Given the description of an element on the screen output the (x, y) to click on. 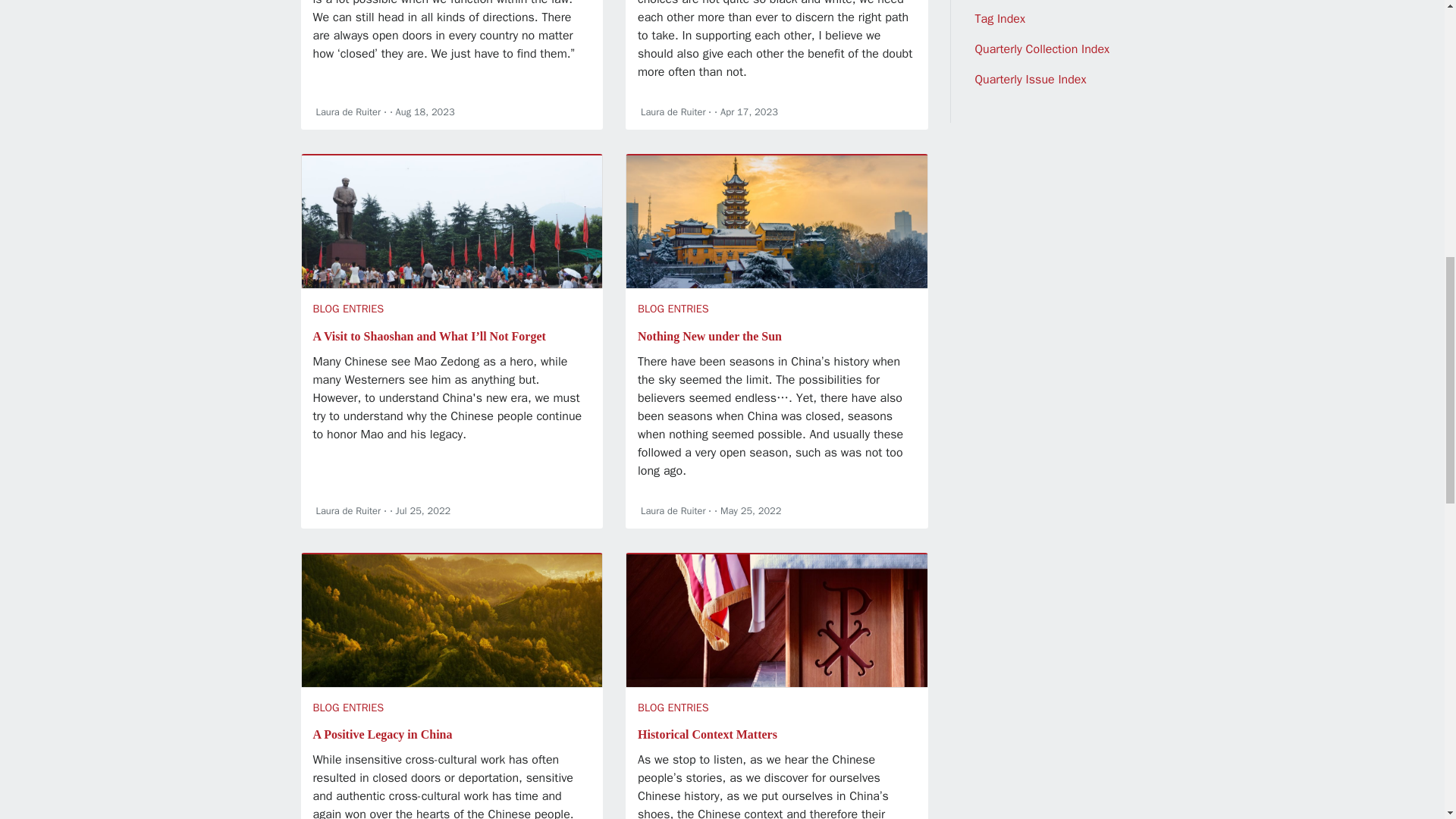
BLOG ENTRIES (348, 308)
BLOG ENTRIES (673, 707)
BLOG ENTRIES (673, 308)
Nothing New under the Sun (709, 336)
Historical Context Matters (707, 734)
A Positive Legacy in China (382, 734)
BLOG ENTRIES (348, 707)
